Given the description of an element on the screen output the (x, y) to click on. 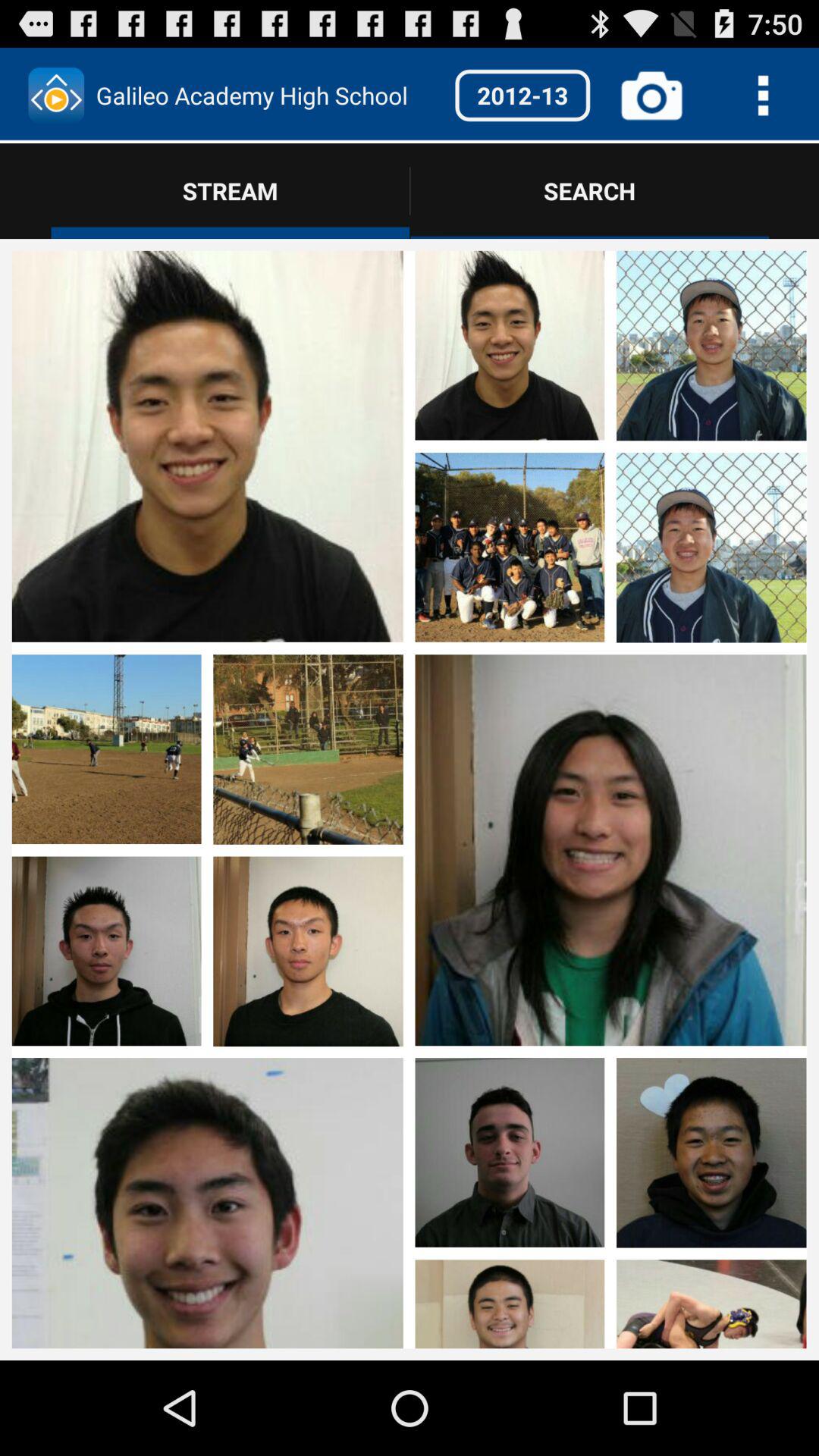
see photo (207, 851)
